Given the description of an element on the screen output the (x, y) to click on. 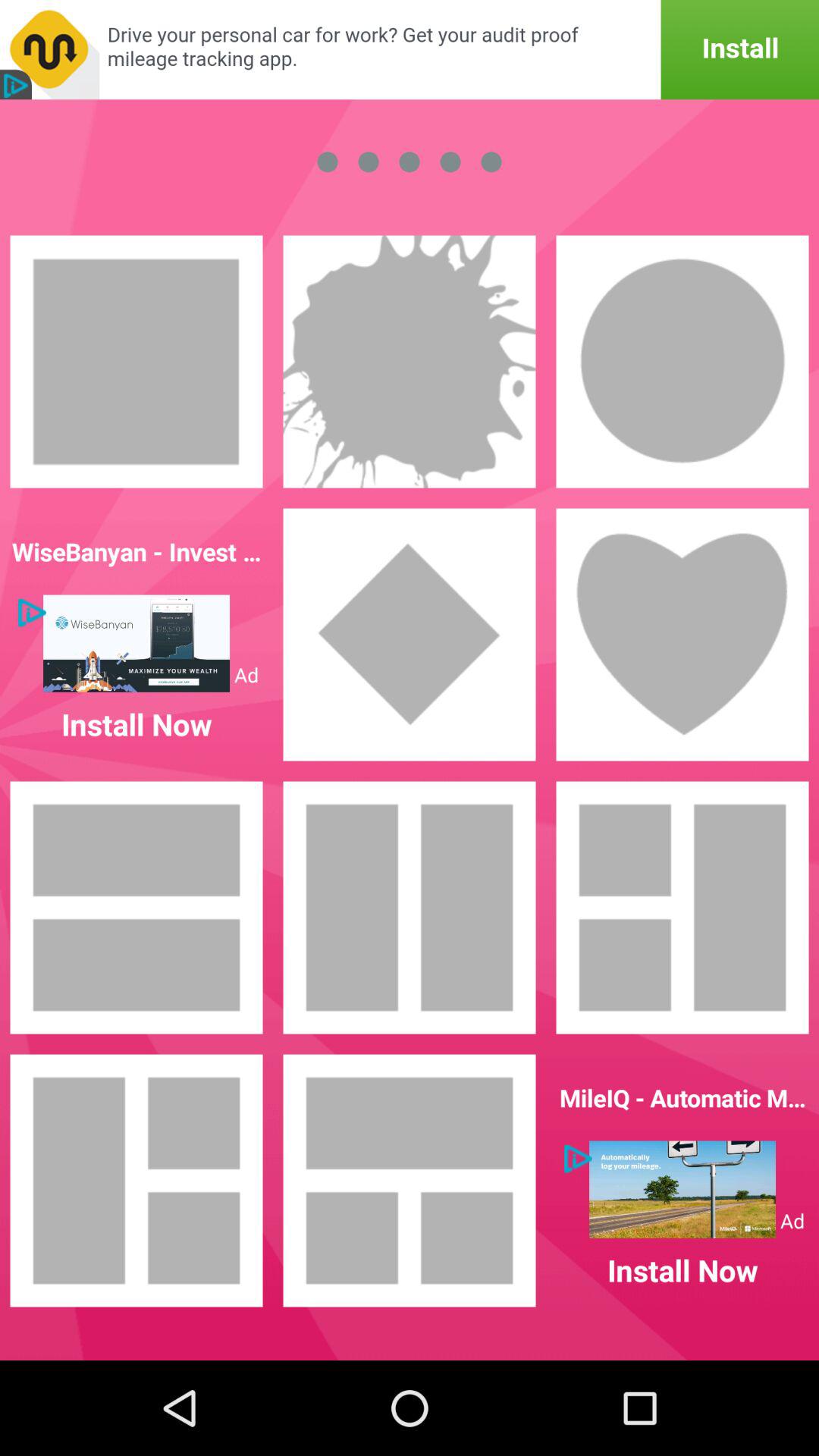
select this layout (136, 1180)
